Given the description of an element on the screen output the (x, y) to click on. 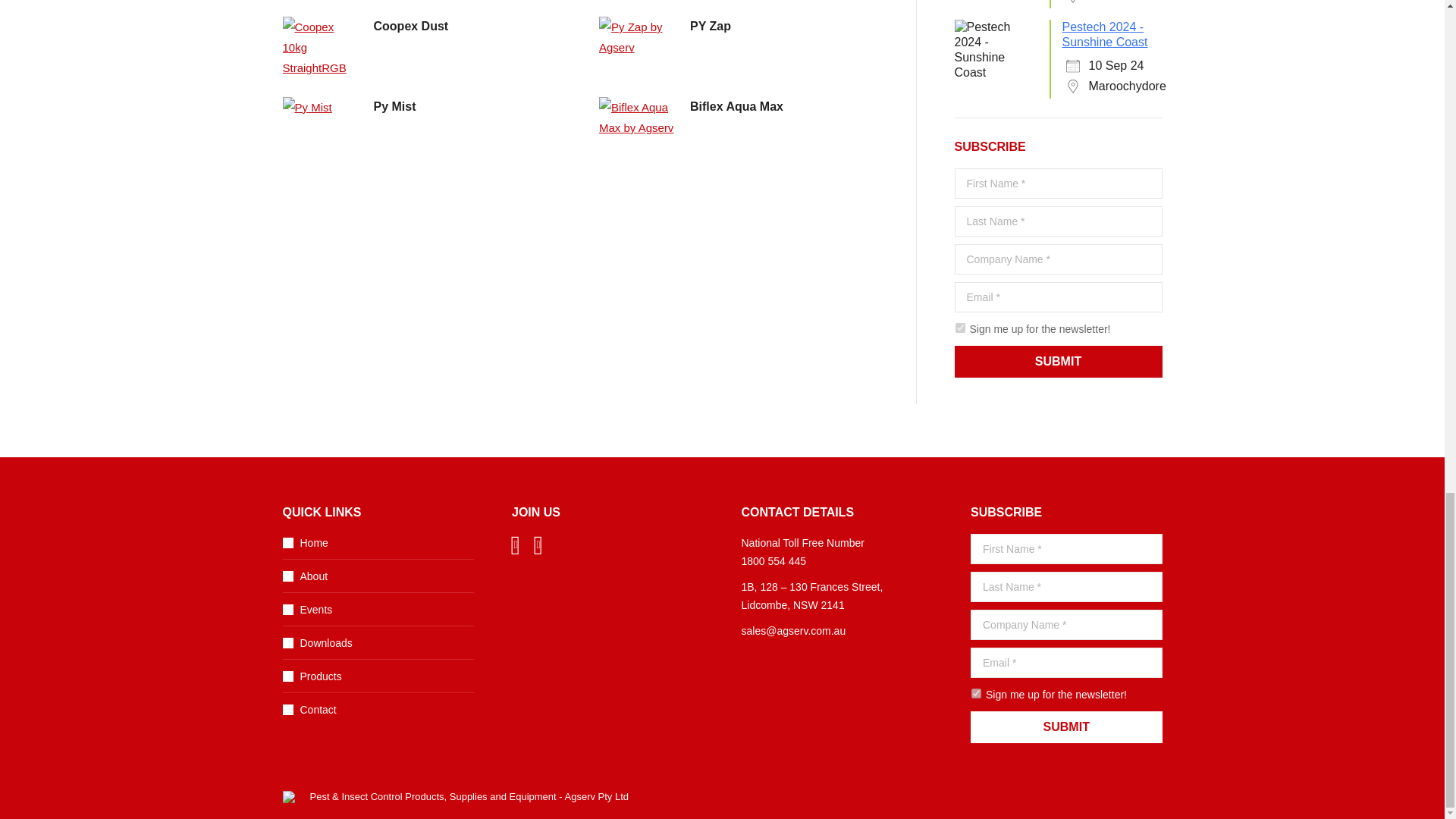
1 (976, 693)
1 (959, 327)
Submit (1066, 726)
Submit (1057, 361)
